Given the description of an element on the screen output the (x, y) to click on. 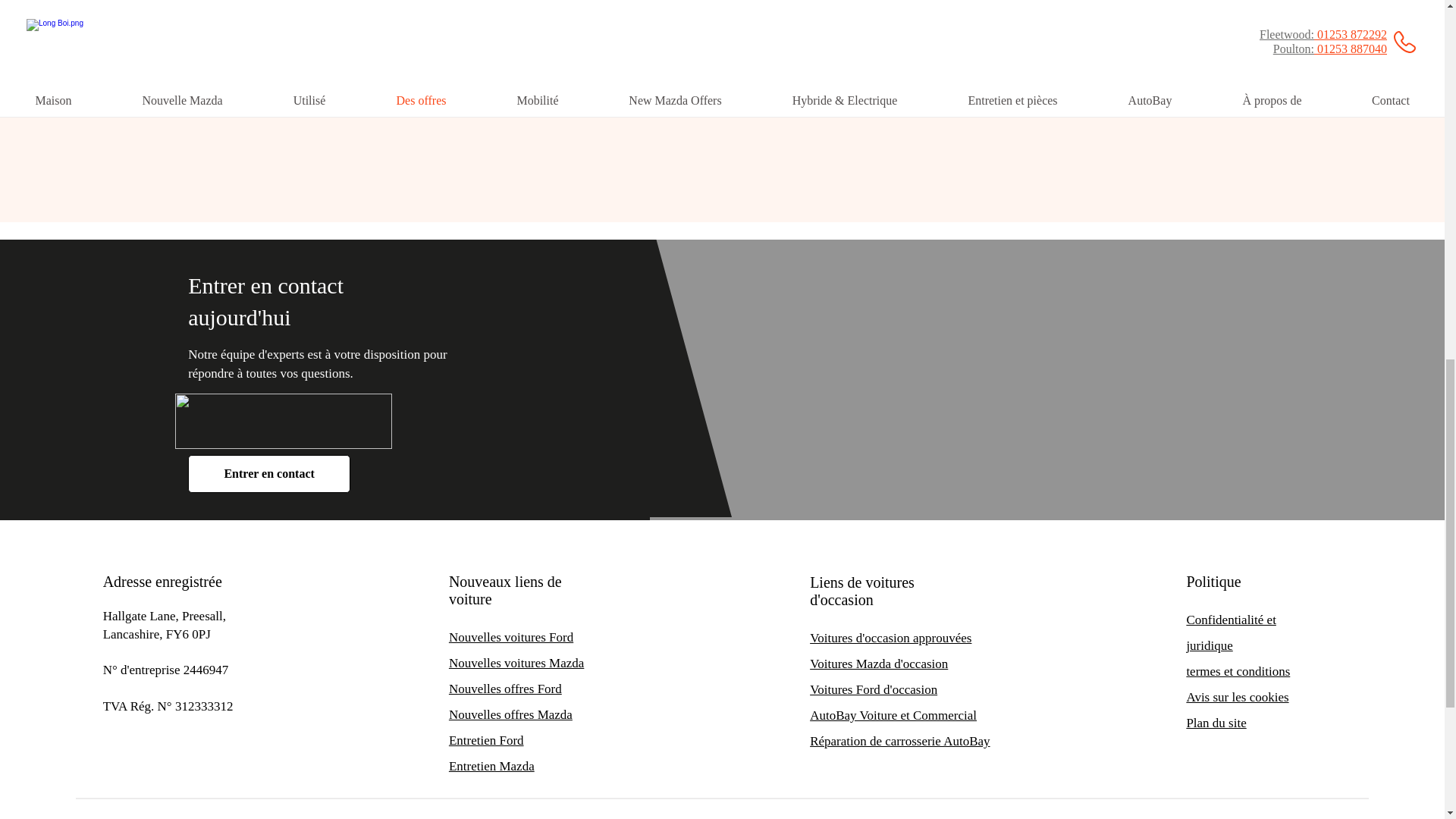
CAM White.png (282, 420)
